Given the description of an element on the screen output the (x, y) to click on. 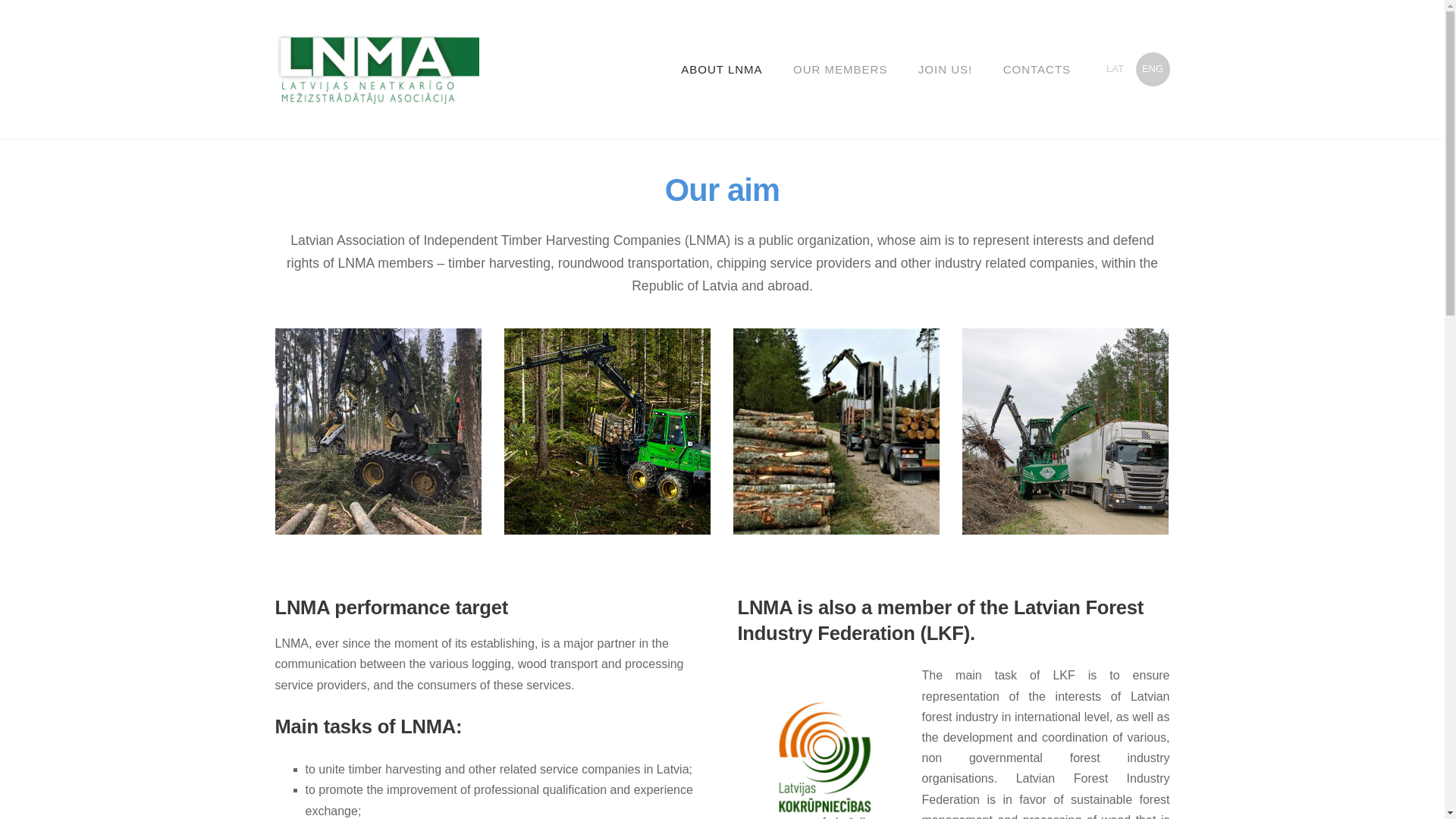
JOIN US! (944, 68)
LAT (1114, 69)
CONTACTS (1036, 68)
ENG (1152, 69)
ABOUT LNMA (721, 68)
OUR MEMBERS (840, 68)
